Given the description of an element on the screen output the (x, y) to click on. 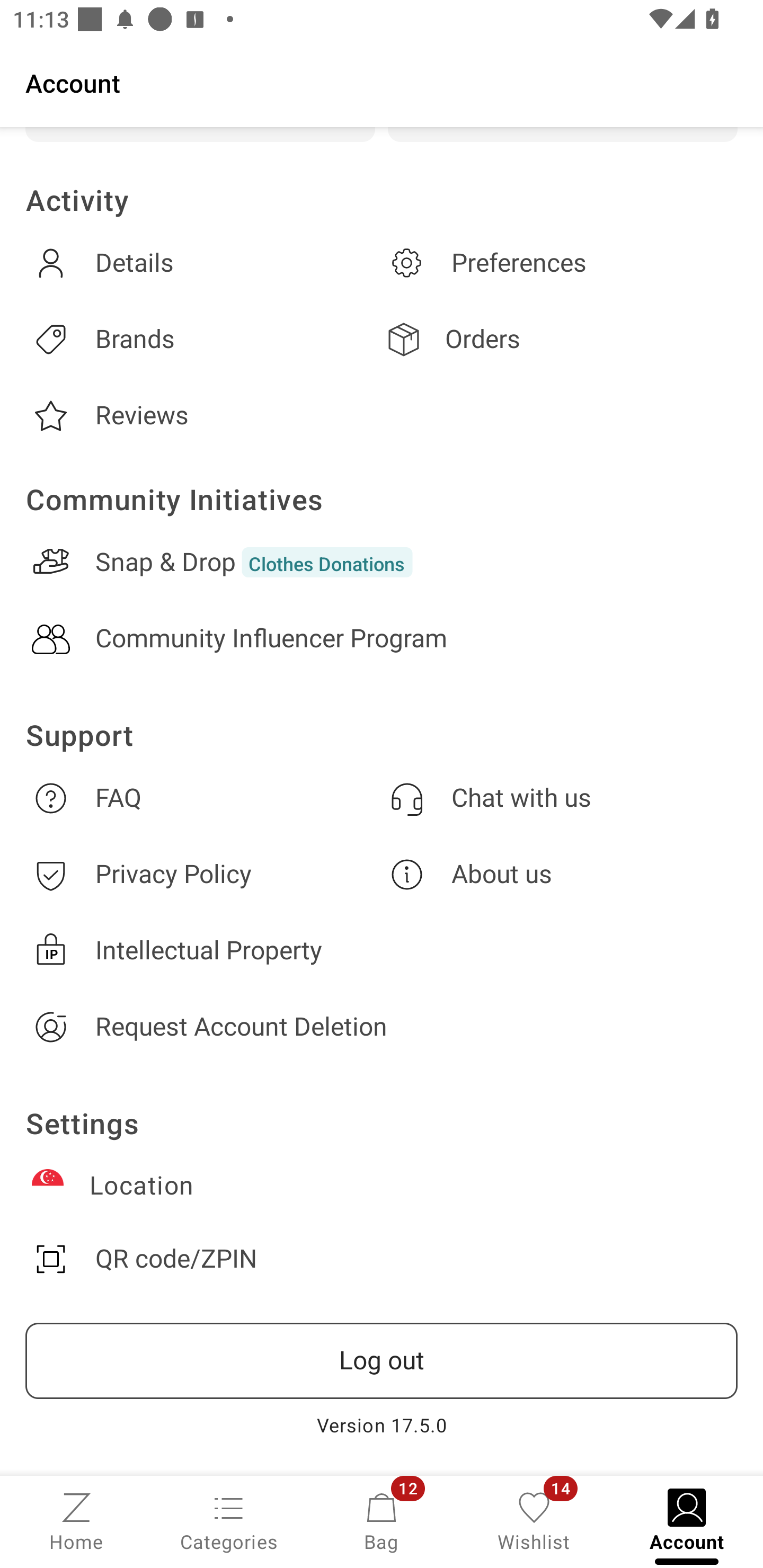
Account (381, 82)
Details (203, 263)
Preferences (559, 263)
Brands (203, 339)
Orders (559, 339)
Reviews (203, 415)
Snap & DropClothes Donations (381, 561)
Community Influencer Program (381, 638)
FAQ (203, 797)
Chat with us (559, 797)
Privacy Policy (203, 873)
About us (559, 873)
Intellectual Property (381, 950)
Request Account Deletion (381, 1026)
QR code/ZPIN (381, 1258)
Log out (381, 1360)
Home (76, 1519)
Categories (228, 1519)
Bag, 12 new notifications Bag (381, 1519)
Wishlist, 14 new notifications Wishlist (533, 1519)
